Given the description of an element on the screen output the (x, y) to click on. 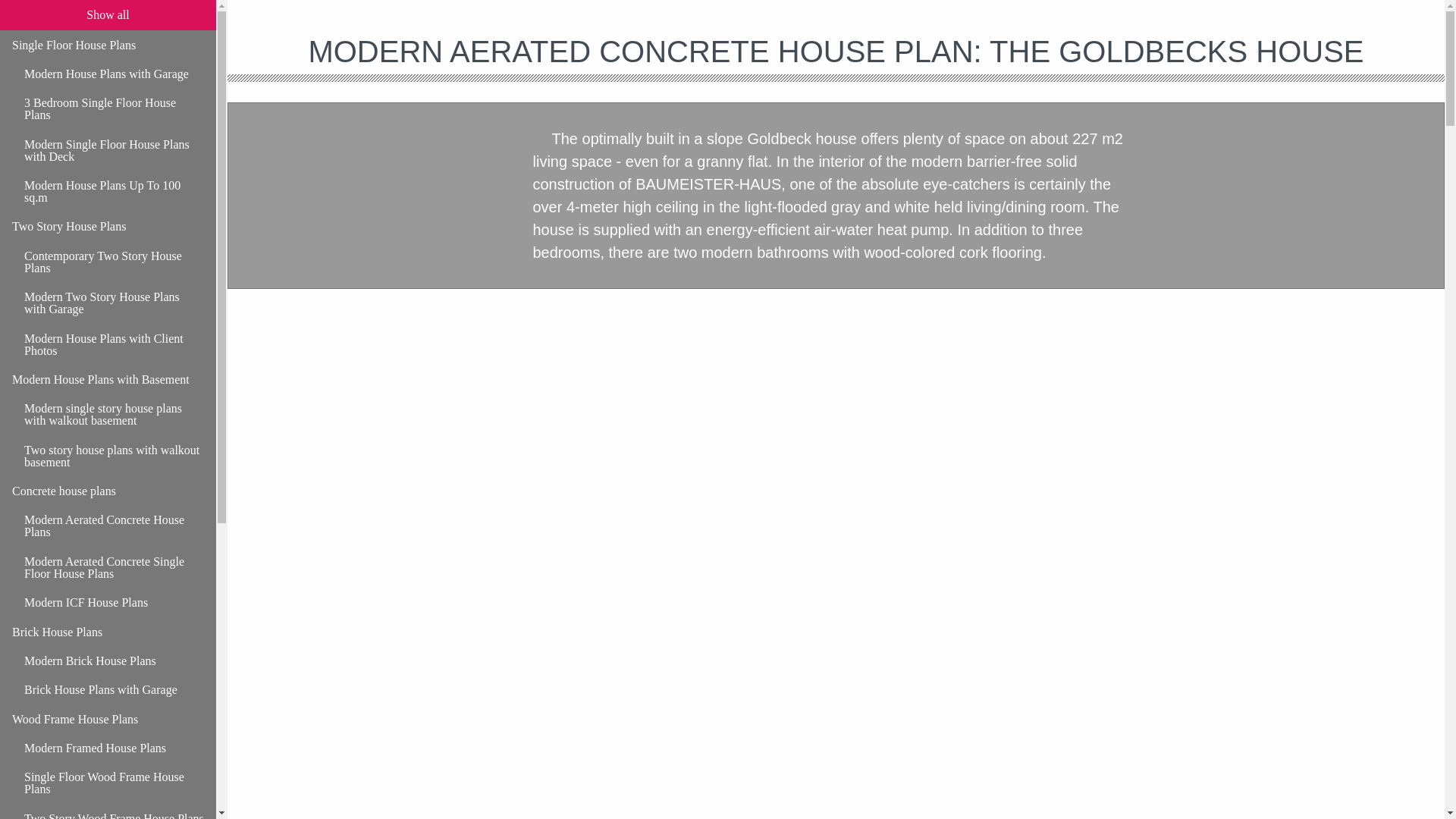
3 Bedroom Single Floor House Plans (113, 108)
Modern House Plans with Basement (107, 379)
Modern Aerated Concrete Single Floor House Plans (113, 567)
Modern Single Floor House Plans with Deck (113, 150)
Contemporary Two Story House Plans (113, 261)
Modern Framed House Plans (113, 747)
Single Floor House Plans (107, 44)
Modern Brick House Plans (113, 661)
Show all (107, 15)
Brick House Plans with Garage (113, 689)
Modern Two Story House Plans with Garage (113, 302)
Modern single story house plans with walkout basement (113, 413)
Modern House Plans with Garage (113, 73)
Modern ICF House Plans (113, 602)
Modern Aerated Concrete House Plans (113, 526)
